Given the description of an element on the screen output the (x, y) to click on. 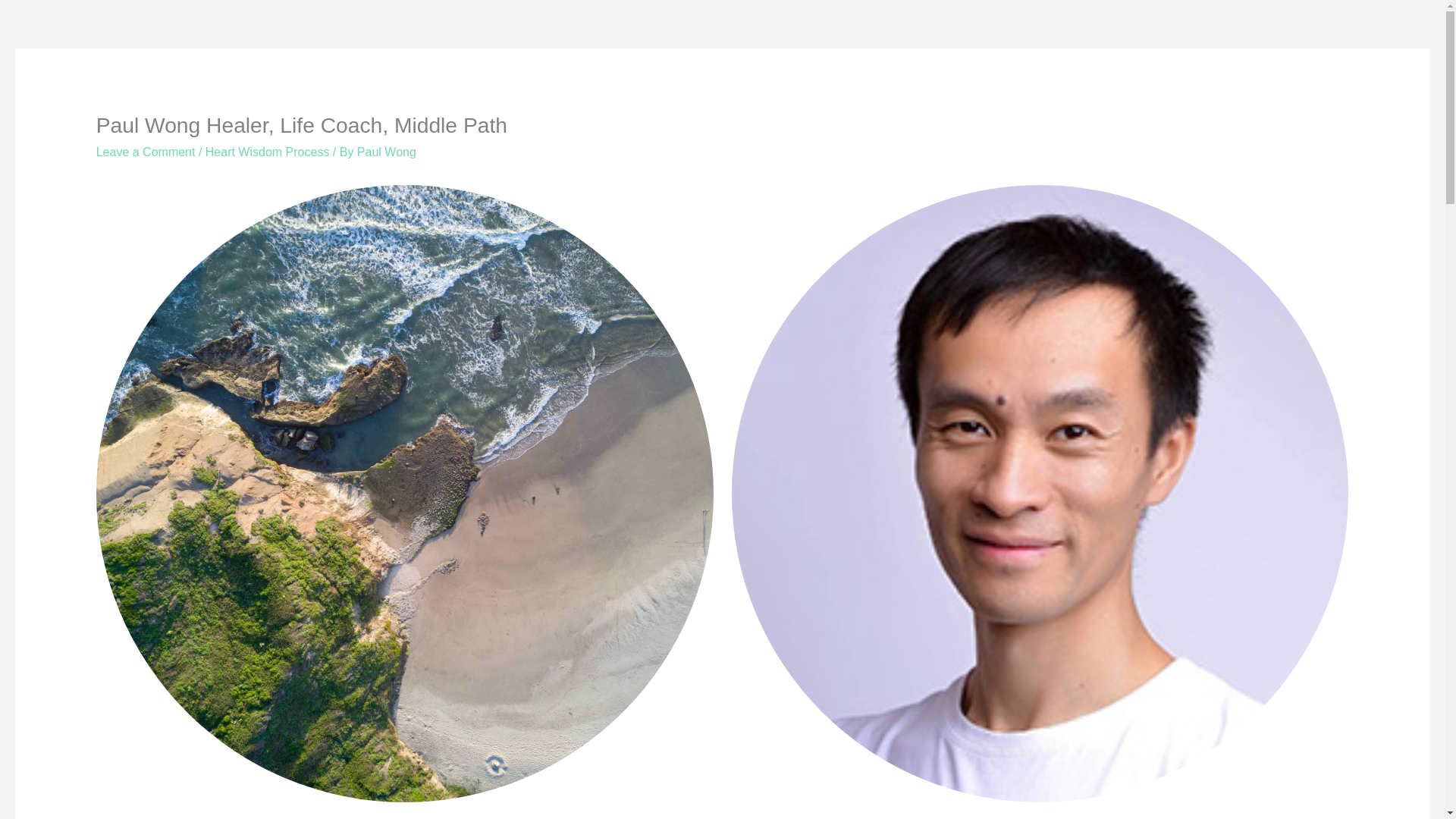
Heart Wisdom Process (267, 151)
Leave a Comment (145, 151)
Paul Wong (386, 151)
View all posts by Paul Wong (386, 151)
Chinese Energetics (303, 792)
